Given the description of an element on the screen output the (x, y) to click on. 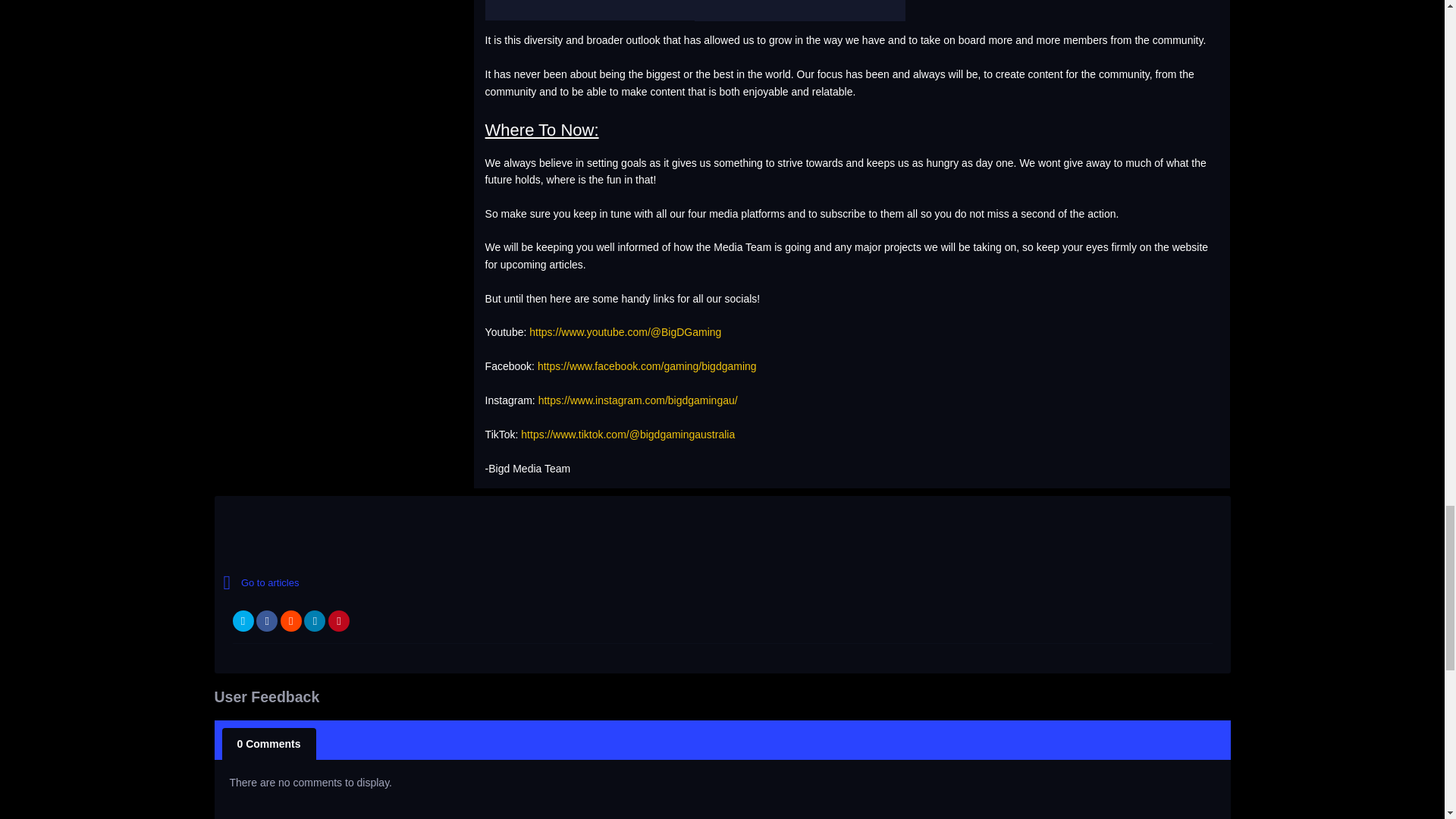
0 Comments (268, 744)
Share on LinkedIn (314, 620)
Share on Twitter (242, 620)
Share on Reddit (291, 620)
Share on Pinterest (339, 620)
Go to Community (354, 582)
Share on Facebook (267, 620)
